Given the description of an element on the screen output the (x, y) to click on. 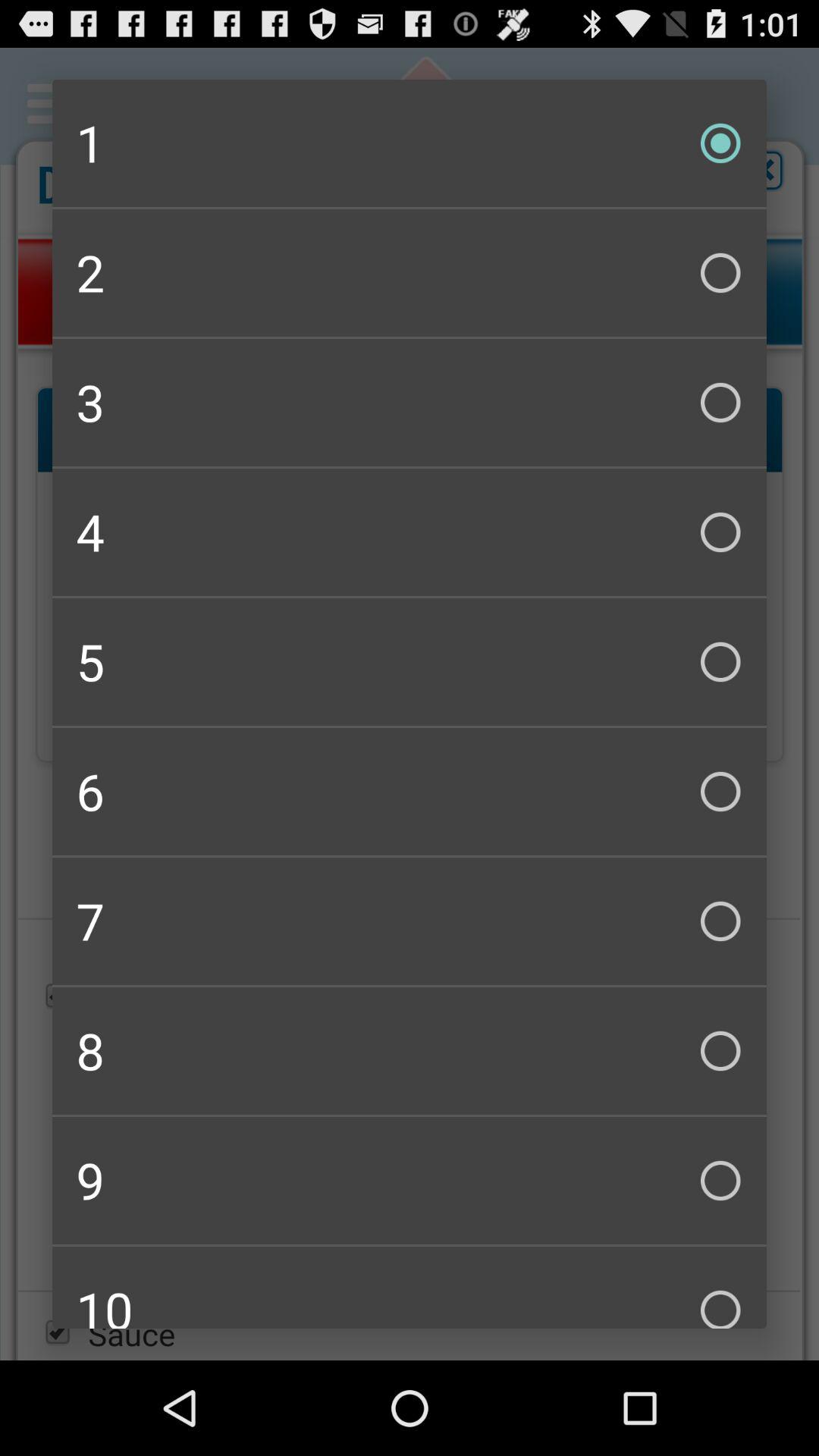
turn on icon above the 2 checkbox (409, 143)
